Given the description of an element on the screen output the (x, y) to click on. 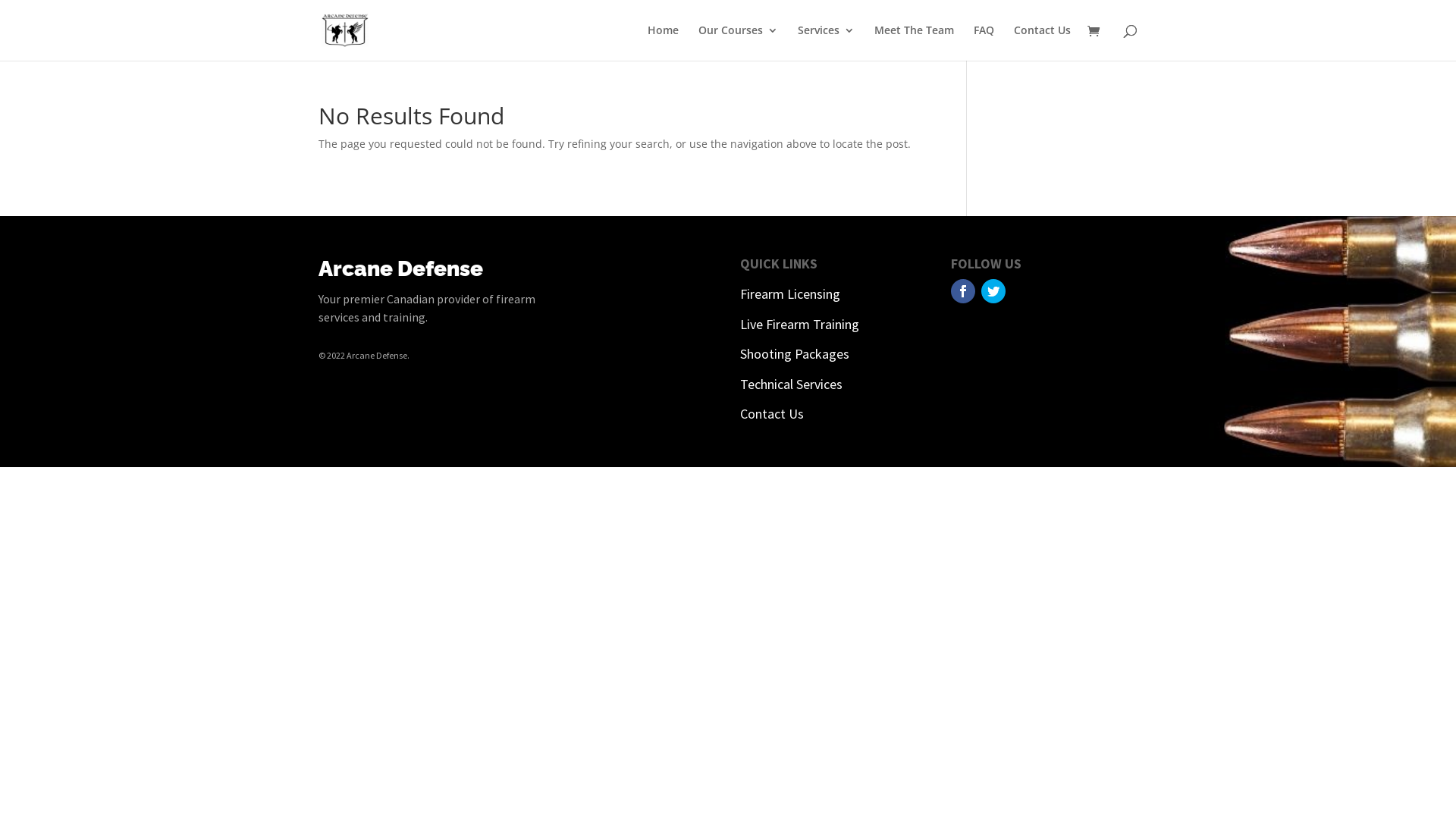
Firearm Licensing Element type: text (790, 293)
FAQ Element type: text (983, 42)
Live Firearm Training Element type: text (799, 323)
Our Courses Element type: text (738, 42)
Contact Us Element type: text (771, 413)
Contact Us Element type: text (1041, 42)
Follow on Facebook Element type: hover (962, 291)
Follow on Twitter Element type: hover (993, 291)
Services Element type: text (825, 42)
Meet The Team Element type: text (913, 42)
Technical Services Element type: text (791, 383)
Shooting Packages Element type: text (794, 353)
Home Element type: text (662, 42)
